Given the description of an element on the screen output the (x, y) to click on. 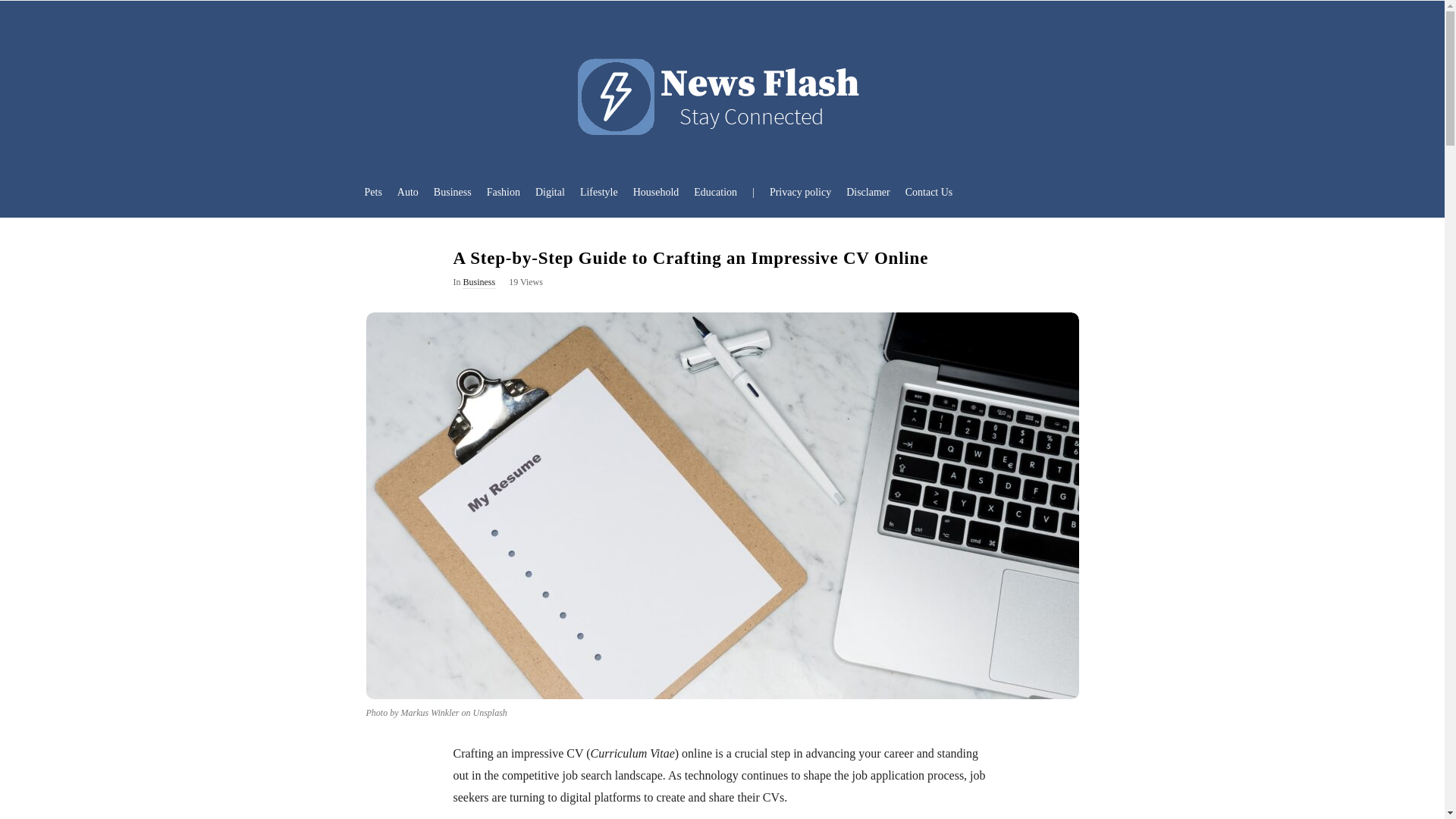
Business (479, 282)
Lifestyle (599, 190)
Auto (408, 190)
Household (656, 190)
Disclamer (868, 190)
Digital (549, 190)
Business (452, 190)
Contact Us (929, 190)
Pets (372, 190)
Education (714, 190)
Fashion (503, 190)
Privacy policy (799, 190)
